Given the description of an element on the screen output the (x, y) to click on. 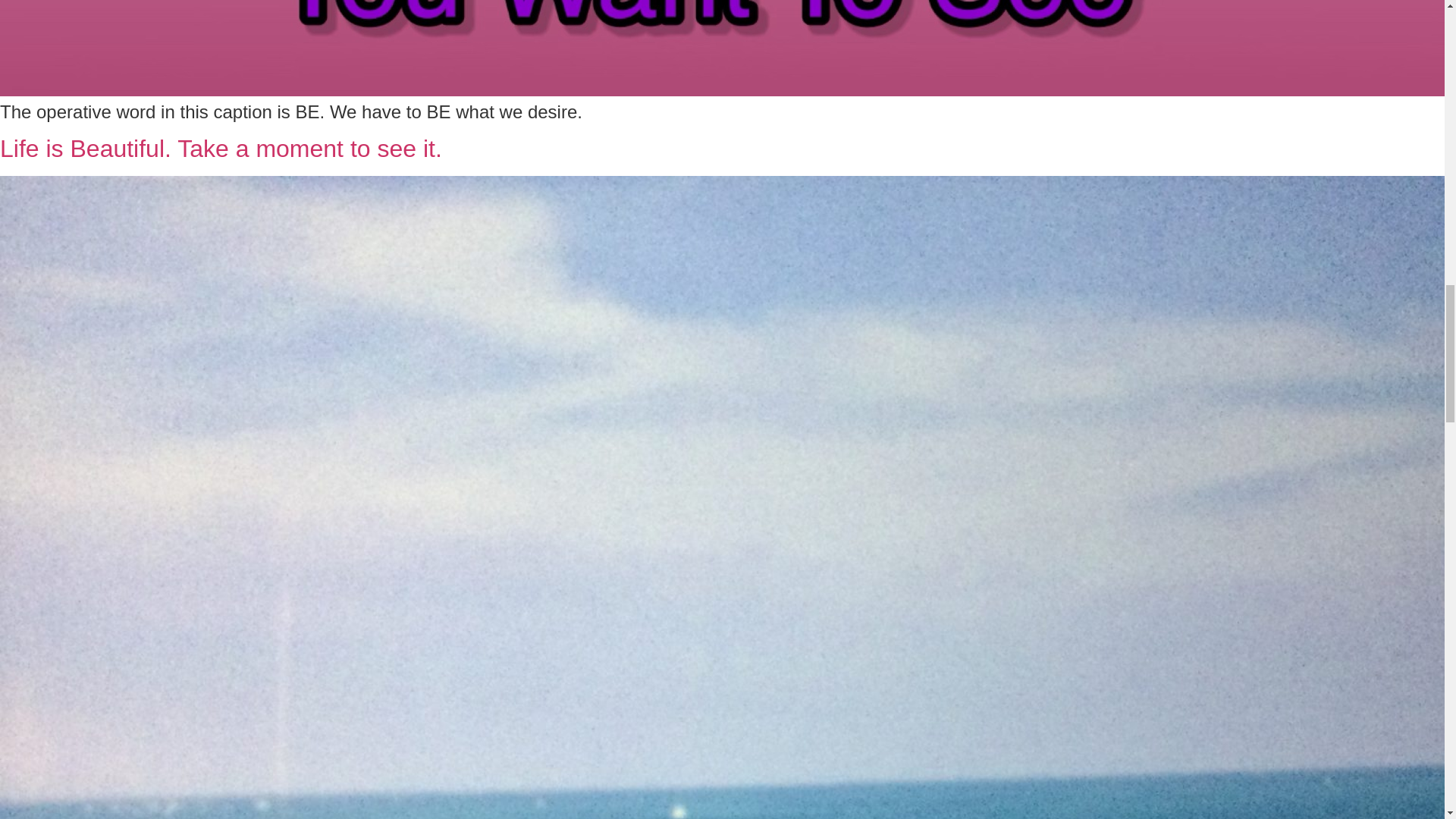
Life is Beautiful. Take a moment to see it. (221, 148)
